Given the description of an element on the screen output the (x, y) to click on. 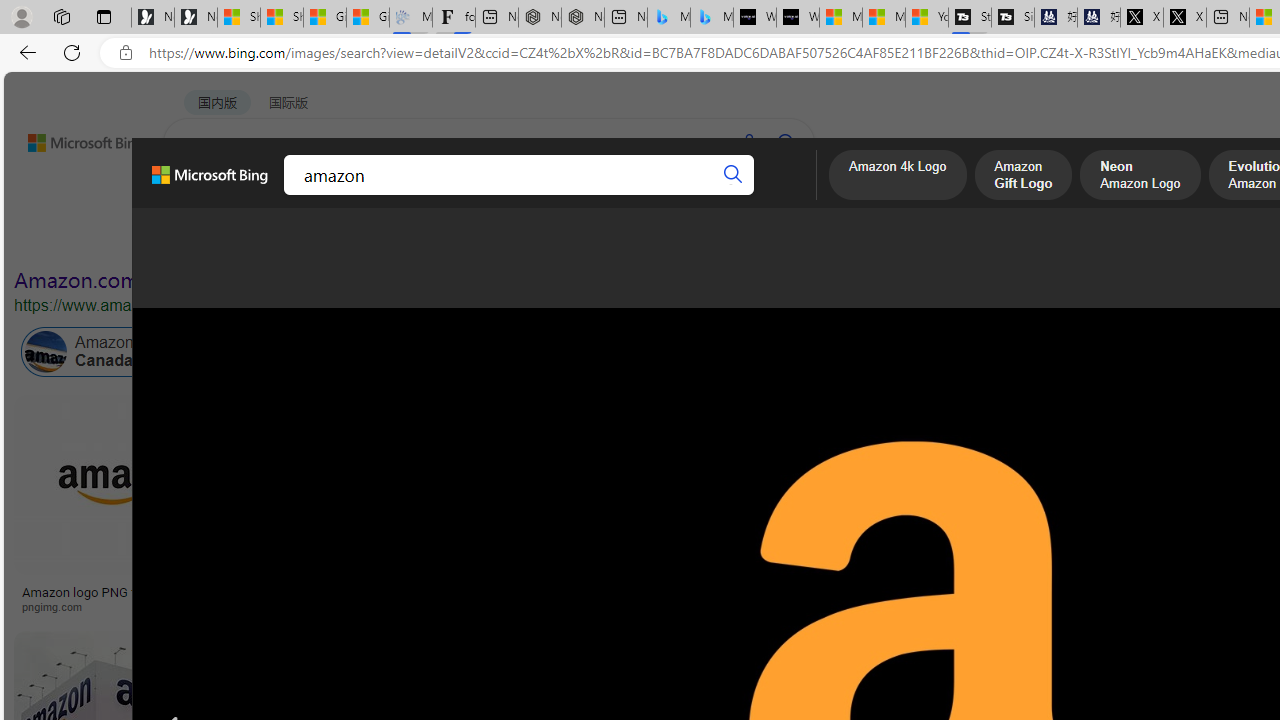
WEB (201, 195)
License (665, 237)
Back to Bing search (73, 138)
Layout (443, 237)
Amazon Gift Logo (1023, 177)
Two Reasons Why Retailers Need to Leverage Amazon (364, 598)
Amazon Prime Online (303, 351)
mytotalretail.com (364, 606)
Alexa Smart Home Devices (1087, 584)
ACADEMIC (548, 195)
